Given the description of an element on the screen output the (x, y) to click on. 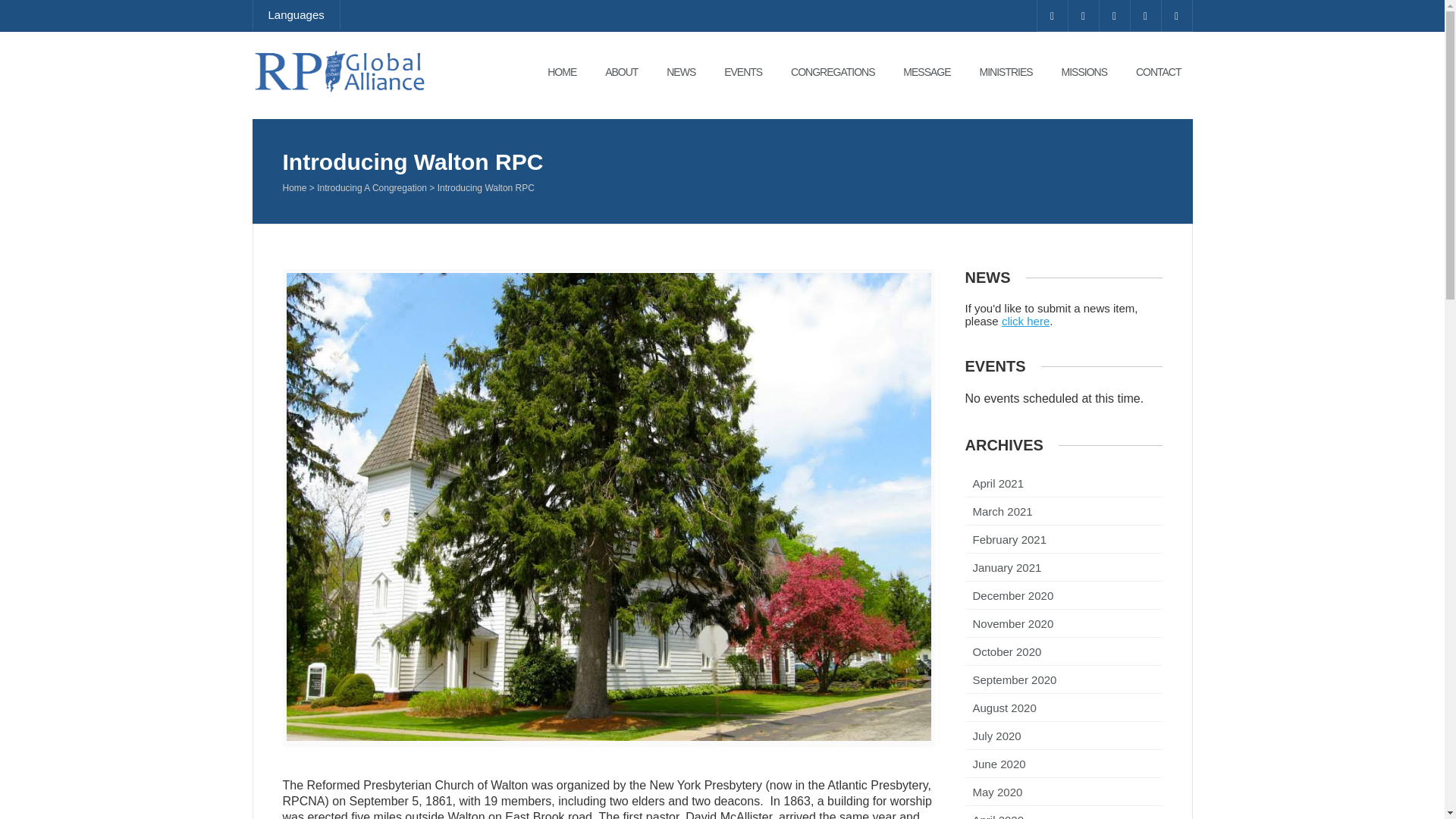
Languages (296, 14)
RP Global Alliance (342, 114)
Home (293, 189)
Facebook (1051, 15)
CONGREGATIONS (832, 72)
HOME (561, 72)
Search (22, 8)
Youtube (1114, 15)
MESSAGE (925, 72)
NEWS (681, 72)
